Given the description of an element on the screen output the (x, y) to click on. 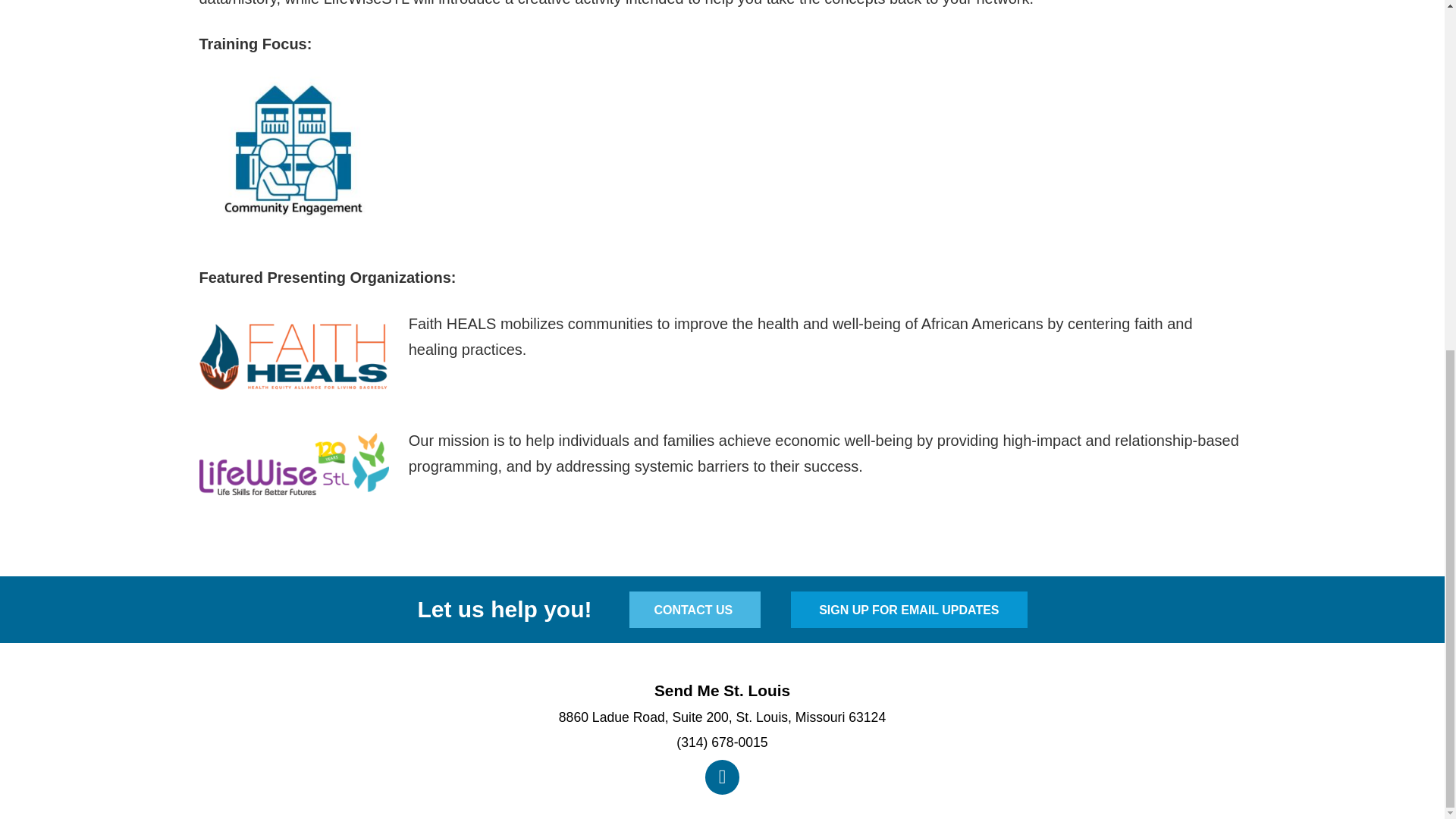
CONTACT US (694, 609)
